Given the description of an element on the screen output the (x, y) to click on. 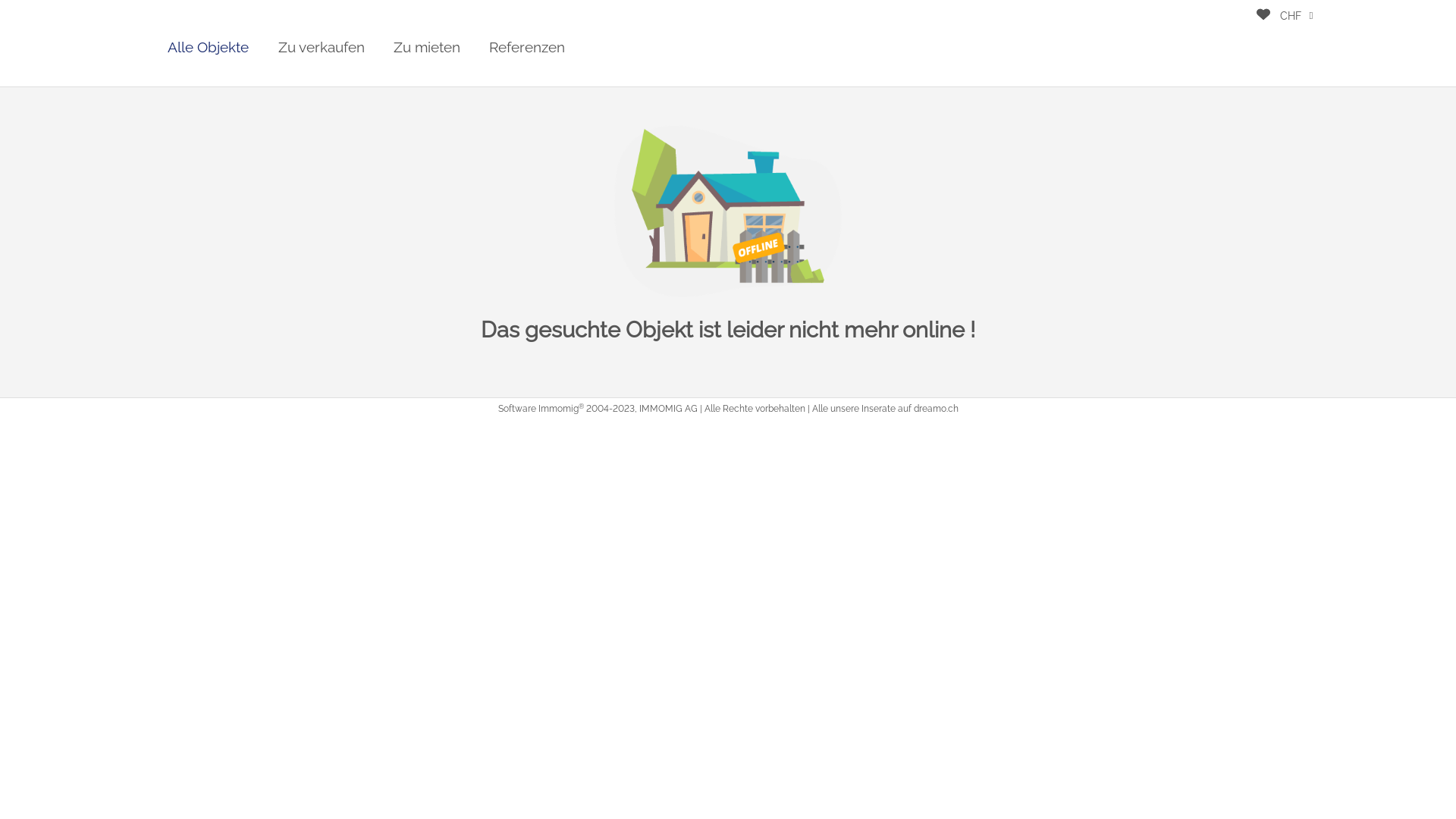
Alle Objekte Element type: text (207, 46)
dreamo.ch Element type: text (935, 408)
Referenzen Element type: text (526, 46)
Zu verkaufen Element type: text (321, 46)
Zu mieten Element type: text (426, 46)
